Given the description of an element on the screen output the (x, y) to click on. 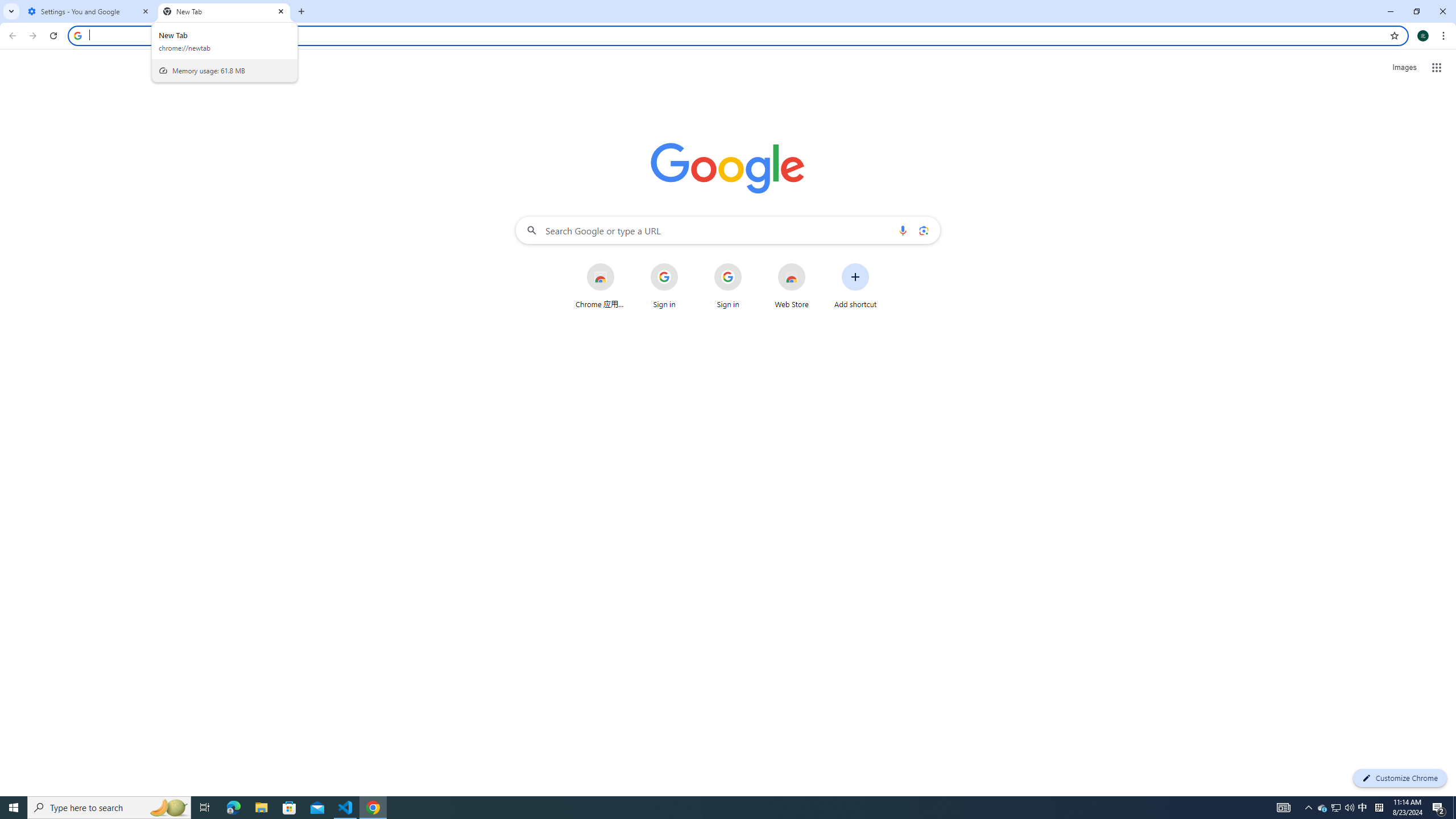
Address and search bar (735, 35)
Reload (52, 35)
New Tab (301, 11)
Google apps (1436, 67)
Search for Images  (1403, 67)
Search Google or type a URL (727, 230)
Customize Chrome (1399, 778)
Search by voice (902, 230)
Search tabs (10, 11)
More actions for Web Store shortcut (814, 264)
Search icon (77, 35)
Forward (32, 35)
More actions for Sign in shortcut (750, 264)
